Given the description of an element on the screen output the (x, y) to click on. 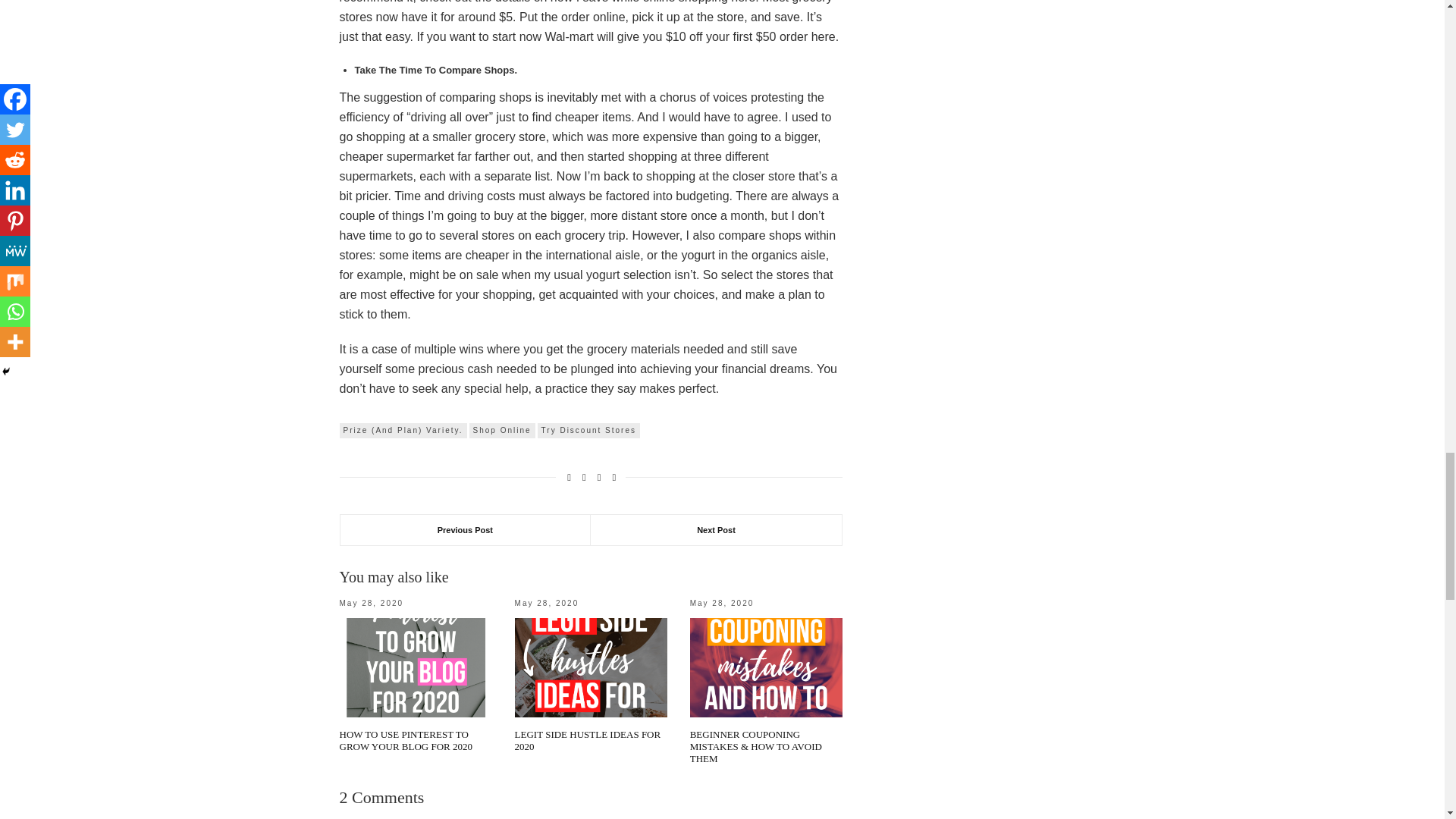
Try Discount Stores (588, 430)
Shop Online (501, 430)
HOW TO USE PINTEREST TO GROW YOUR BLOG FOR 2020 (406, 740)
Previous Post (465, 530)
Next Post (716, 530)
LEGIT SIDE HUSTLE IDEAS FOR 2020 (588, 740)
